Given the description of an element on the screen output the (x, y) to click on. 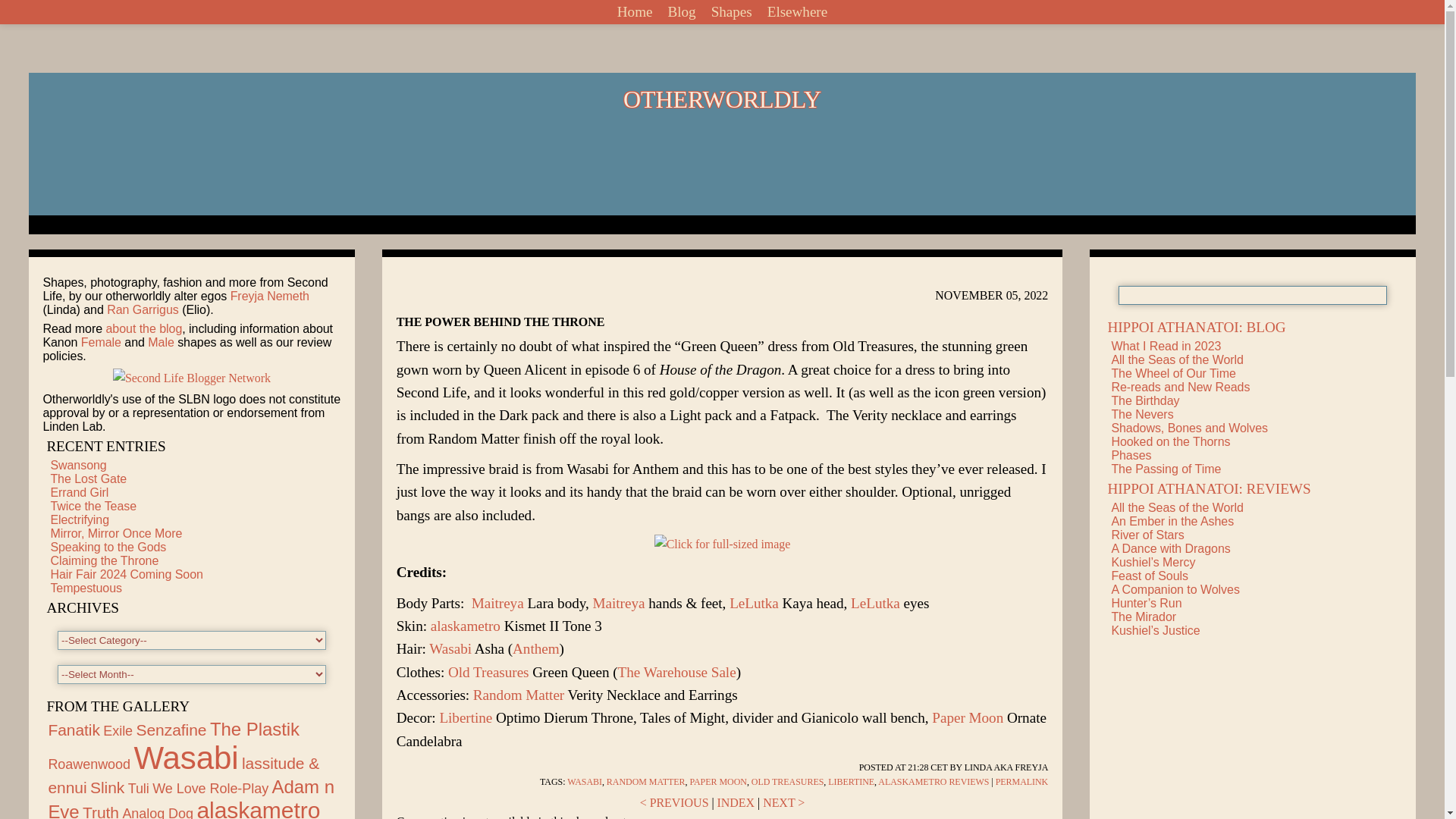
Slink (106, 787)
Blog (681, 12)
Ran Garrigus (142, 309)
Senzafine (171, 729)
Elsewhere (797, 12)
Errand Girl (78, 492)
Claiming the Throne (103, 560)
Click for full-sized image (721, 543)
The Lost Gate (87, 478)
Male (161, 341)
Swansong (77, 464)
Tempestuous (85, 587)
Twice the Tease (92, 505)
Exile (117, 730)
Fanatik (74, 729)
